Given the description of an element on the screen output the (x, y) to click on. 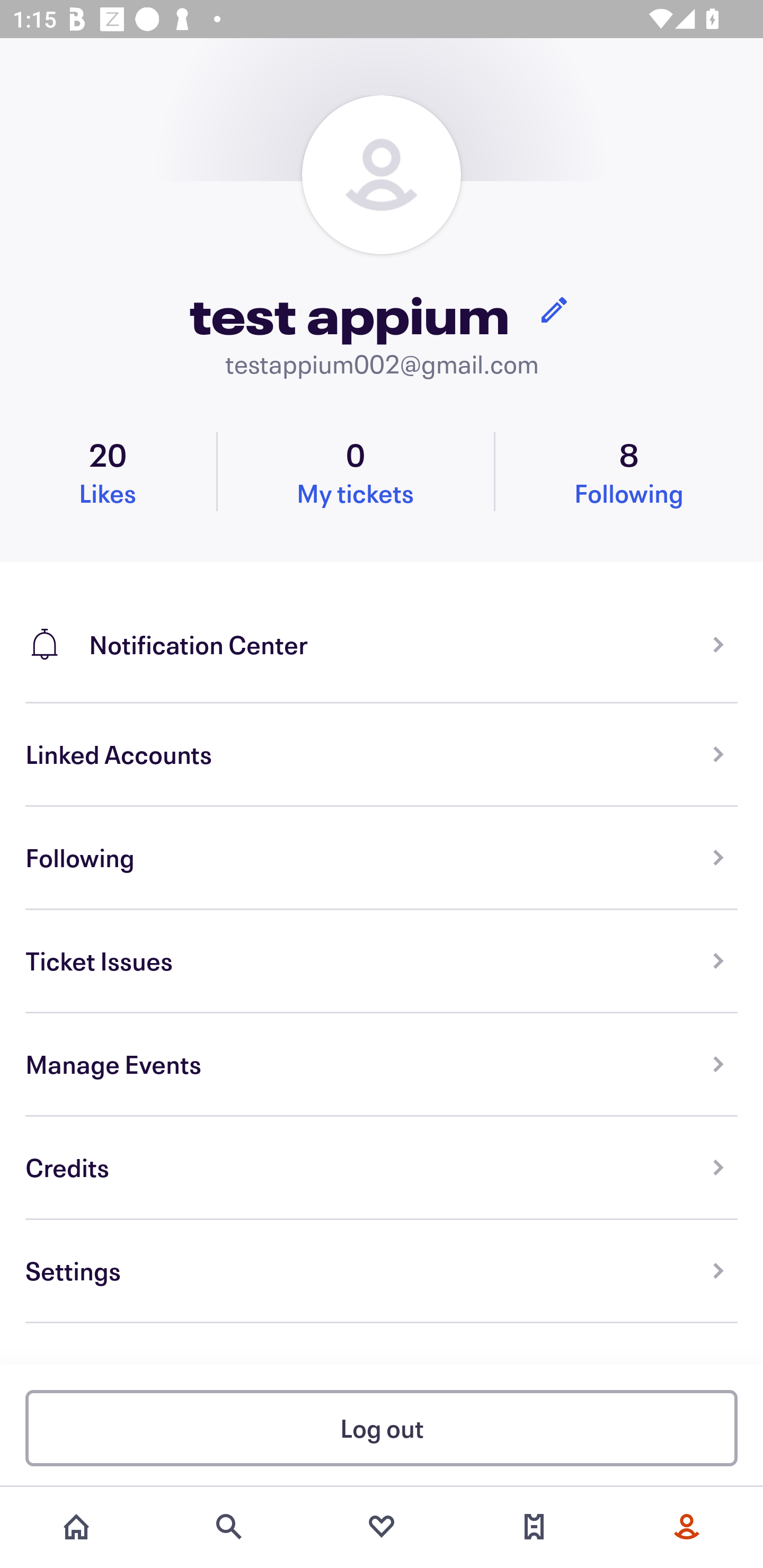
test appium testappium002@gmail.com (381, 238)
20 Likes (107, 470)
0 My tickets (355, 470)
8 Following (629, 470)
Notification Center (381, 632)
Linked Accounts (381, 755)
Following (381, 858)
Ticket Issues (381, 960)
Manage Events (381, 1064)
Credits (381, 1167)
Settings (381, 1271)
Log out (381, 1427)
Home (76, 1526)
Search events (228, 1526)
Favorites (381, 1526)
Tickets (533, 1526)
More (686, 1526)
